Given the description of an element on the screen output the (x, y) to click on. 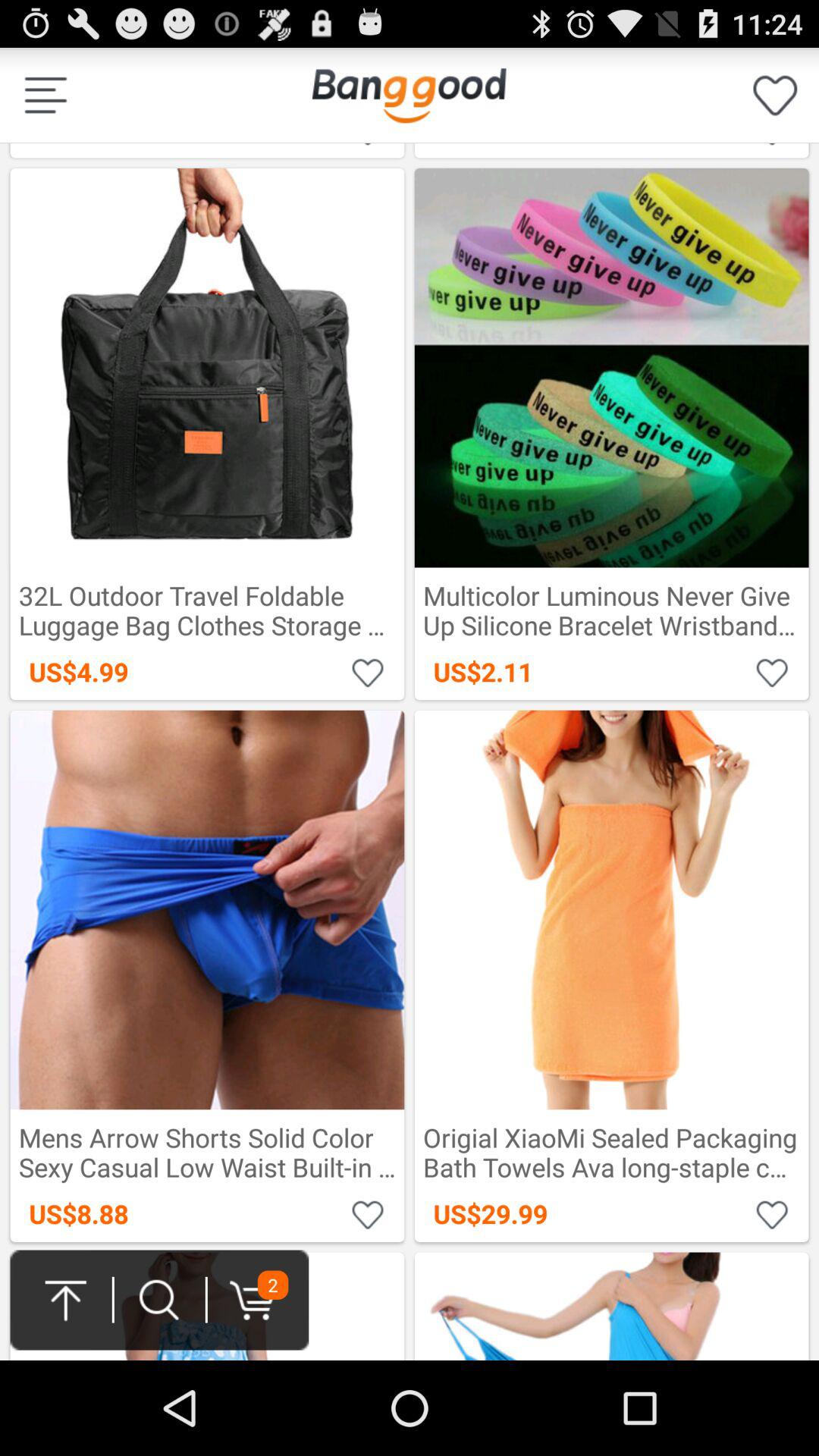
details (45, 95)
